Given the description of an element on the screen output the (x, y) to click on. 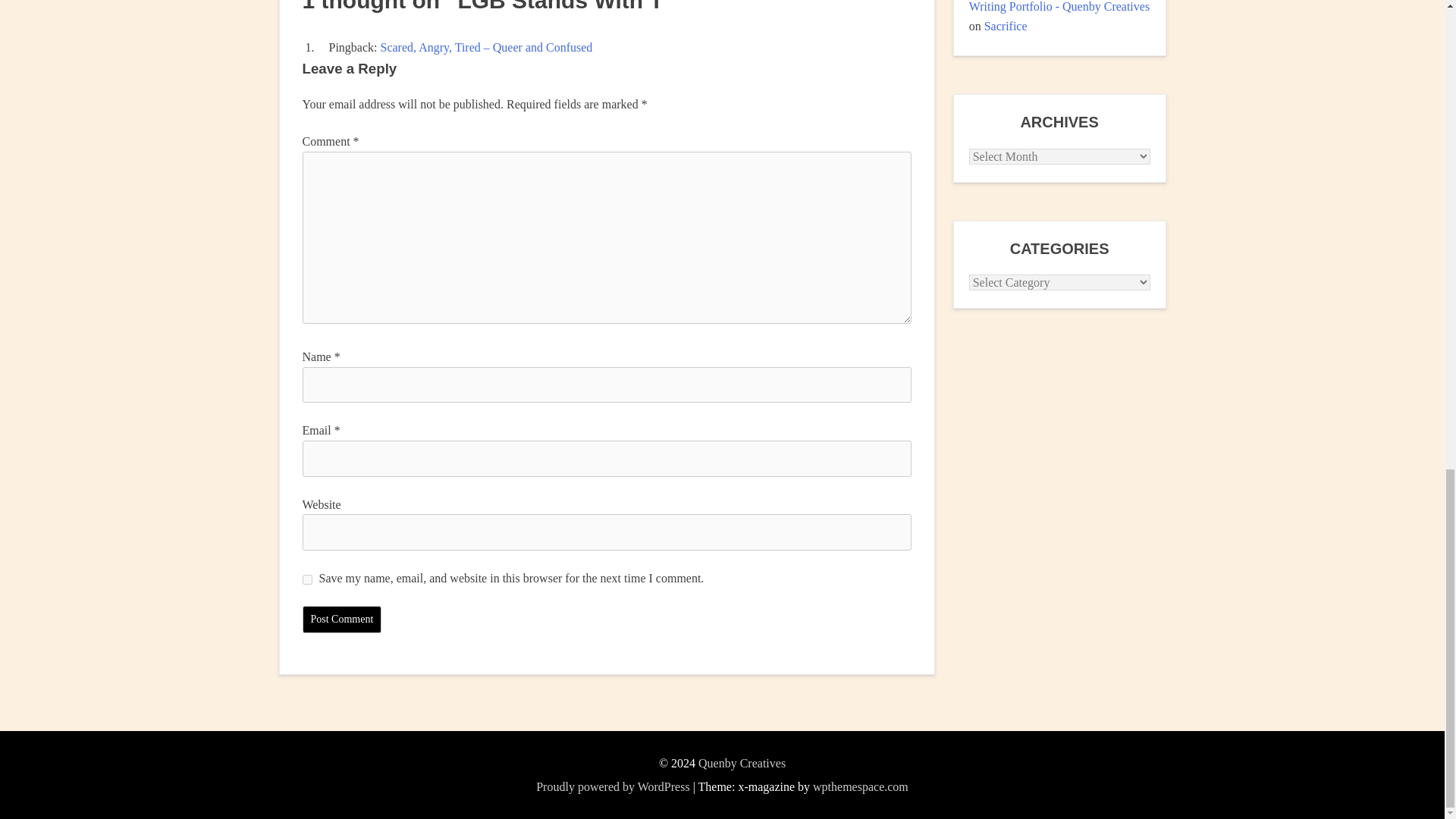
yes (306, 579)
Post Comment (341, 619)
Post Comment (341, 619)
